Given the description of an element on the screen output the (x, y) to click on. 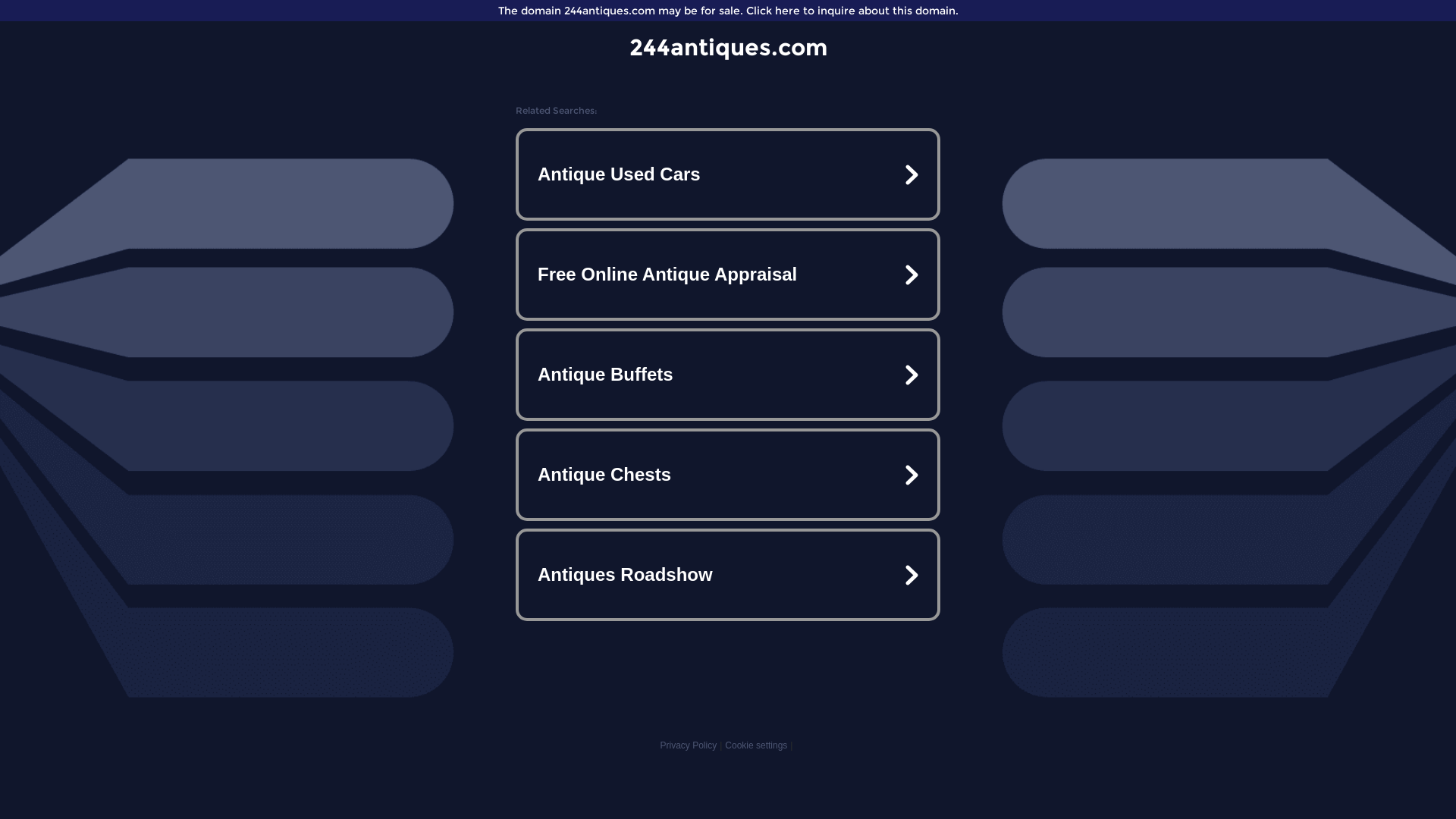
Free Online Antique Appraisal Element type: text (727, 274)
Antique Used Cars Element type: text (727, 174)
Privacy Policy Element type: text (687, 745)
244antiques.com Element type: text (728, 47)
Antiques Roadshow Element type: text (727, 574)
Antique Buffets Element type: text (727, 374)
Cookie settings Element type: text (755, 745)
Antique Chests Element type: text (727, 474)
